Given the description of an element on the screen output the (x, y) to click on. 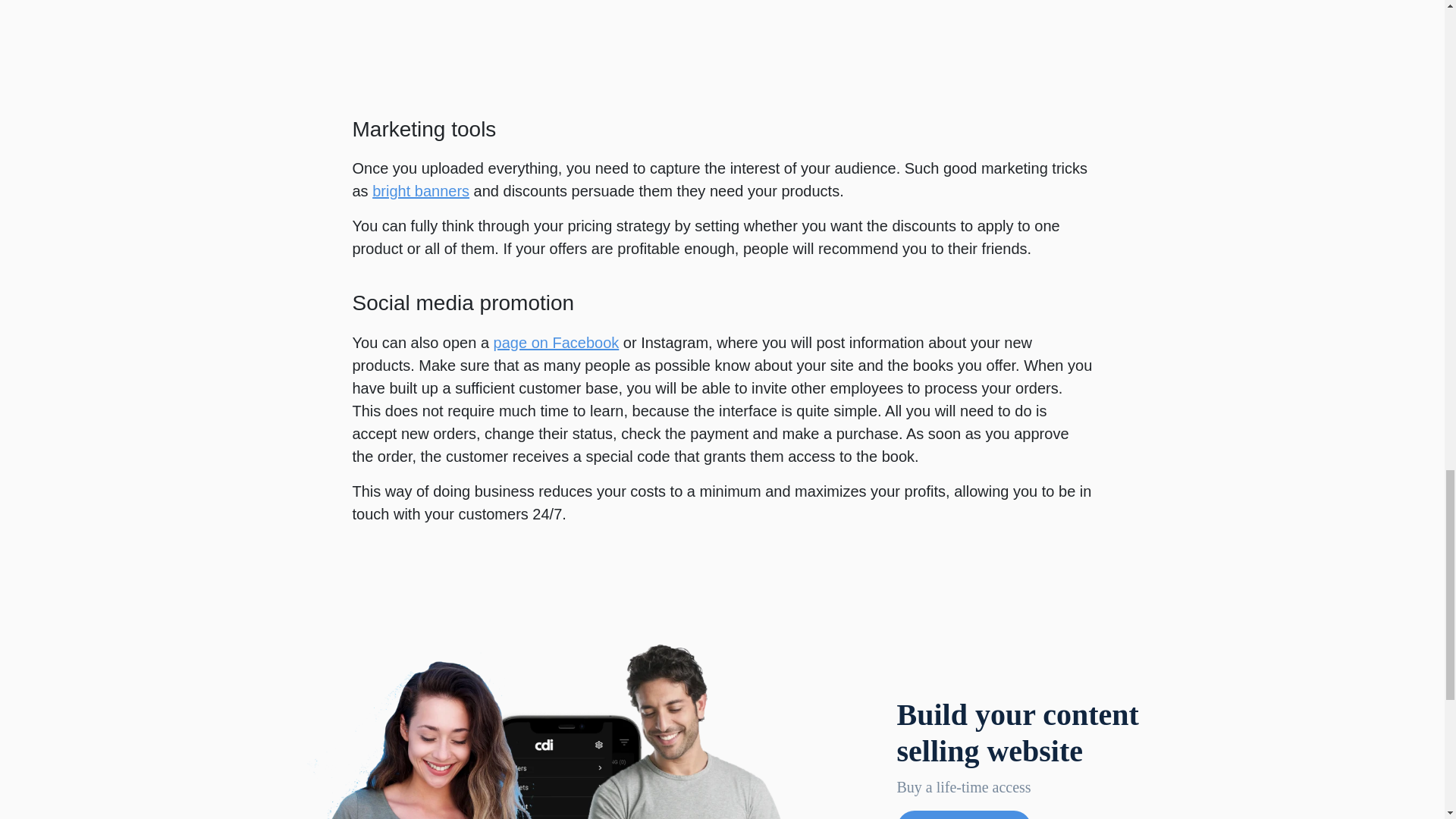
page on Facebook (556, 342)
bright banners (420, 190)
Start building it now! (963, 814)
